Given the description of an element on the screen output the (x, y) to click on. 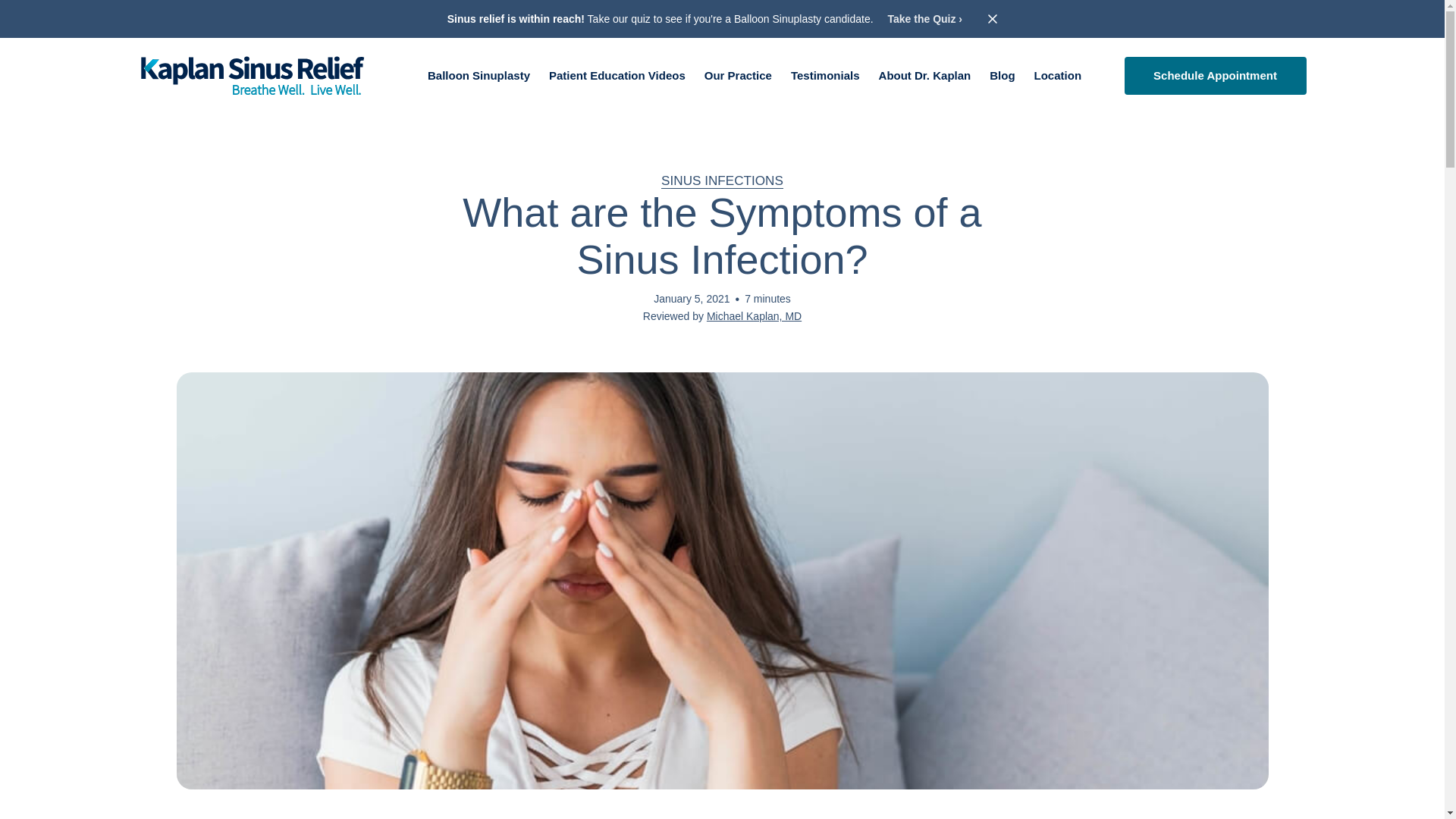
Location (1057, 74)
Blog (1002, 74)
Balloon Sinuplasty (478, 74)
Schedule Appointment (1215, 75)
Patient Education Videos (616, 74)
Testimonials (825, 74)
About Dr. Kaplan (925, 74)
Our Practice (737, 74)
Michael Kaplan, MD (754, 316)
